Given the description of an element on the screen output the (x, y) to click on. 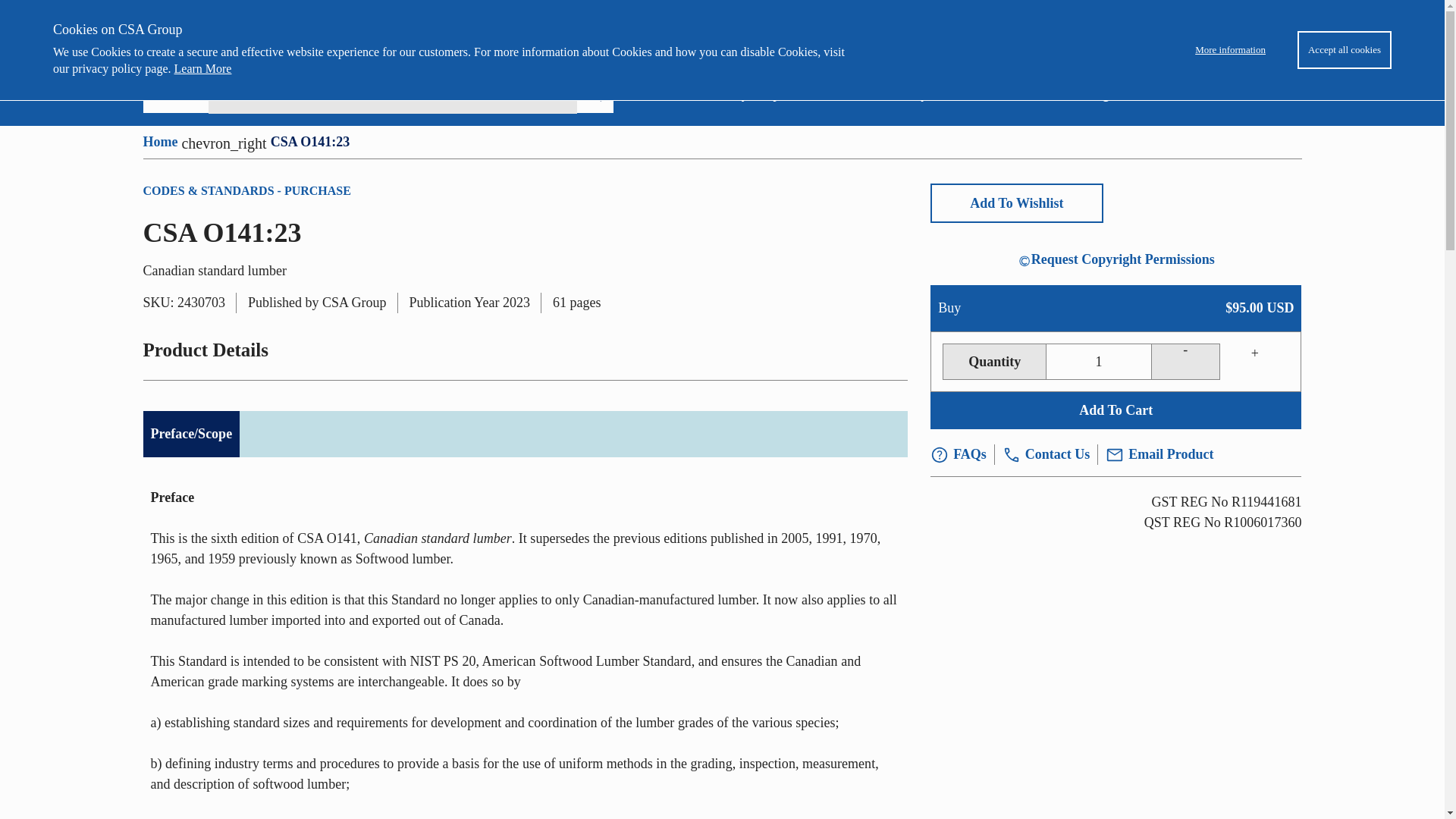
Accept all cookies (1344, 49)
More information (1230, 49)
Learn More (202, 68)
1 (1098, 361)
Search (594, 94)
